Given the description of an element on the screen output the (x, y) to click on. 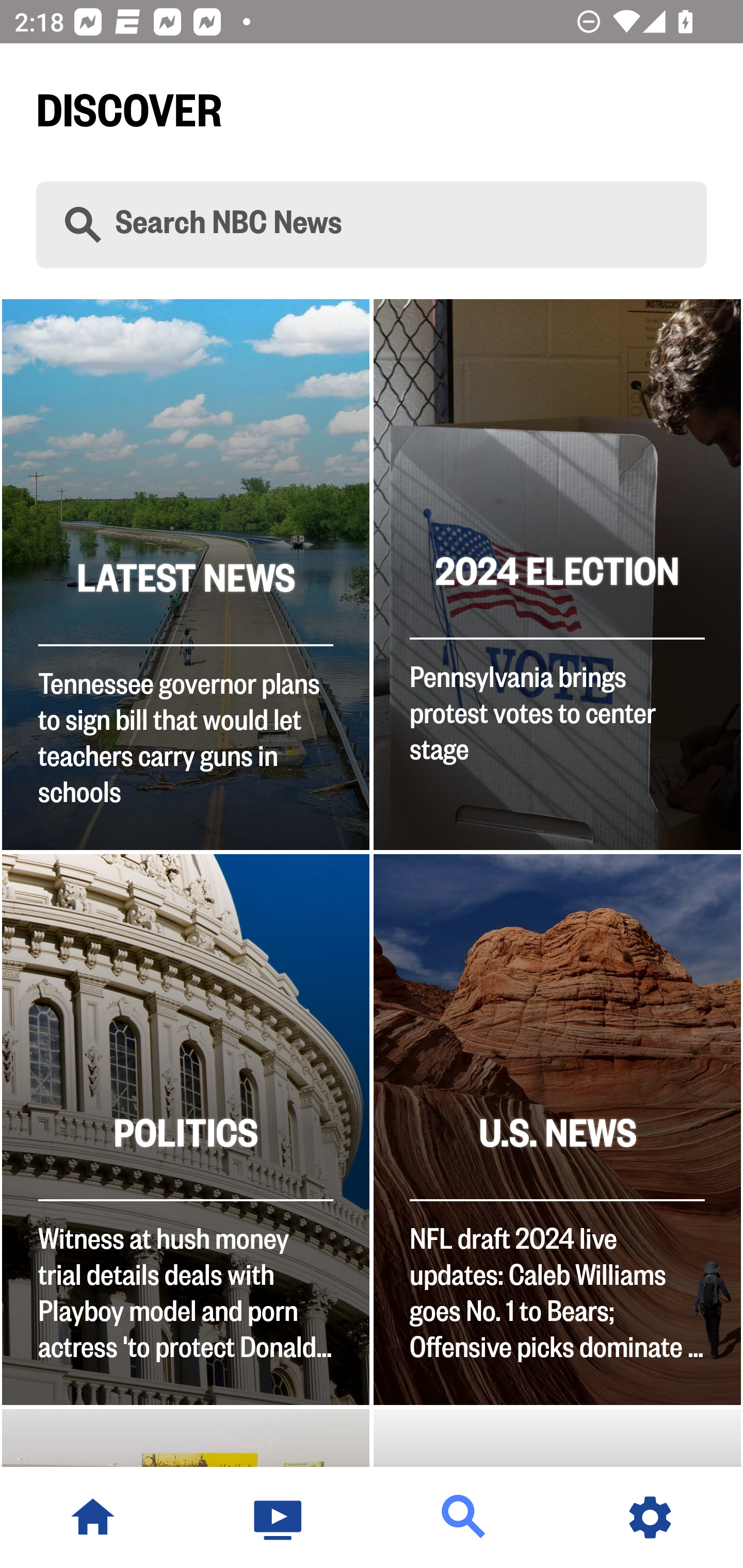
NBC News Home (92, 1517)
Watch (278, 1517)
Settings (650, 1517)
